Given the description of an element on the screen output the (x, y) to click on. 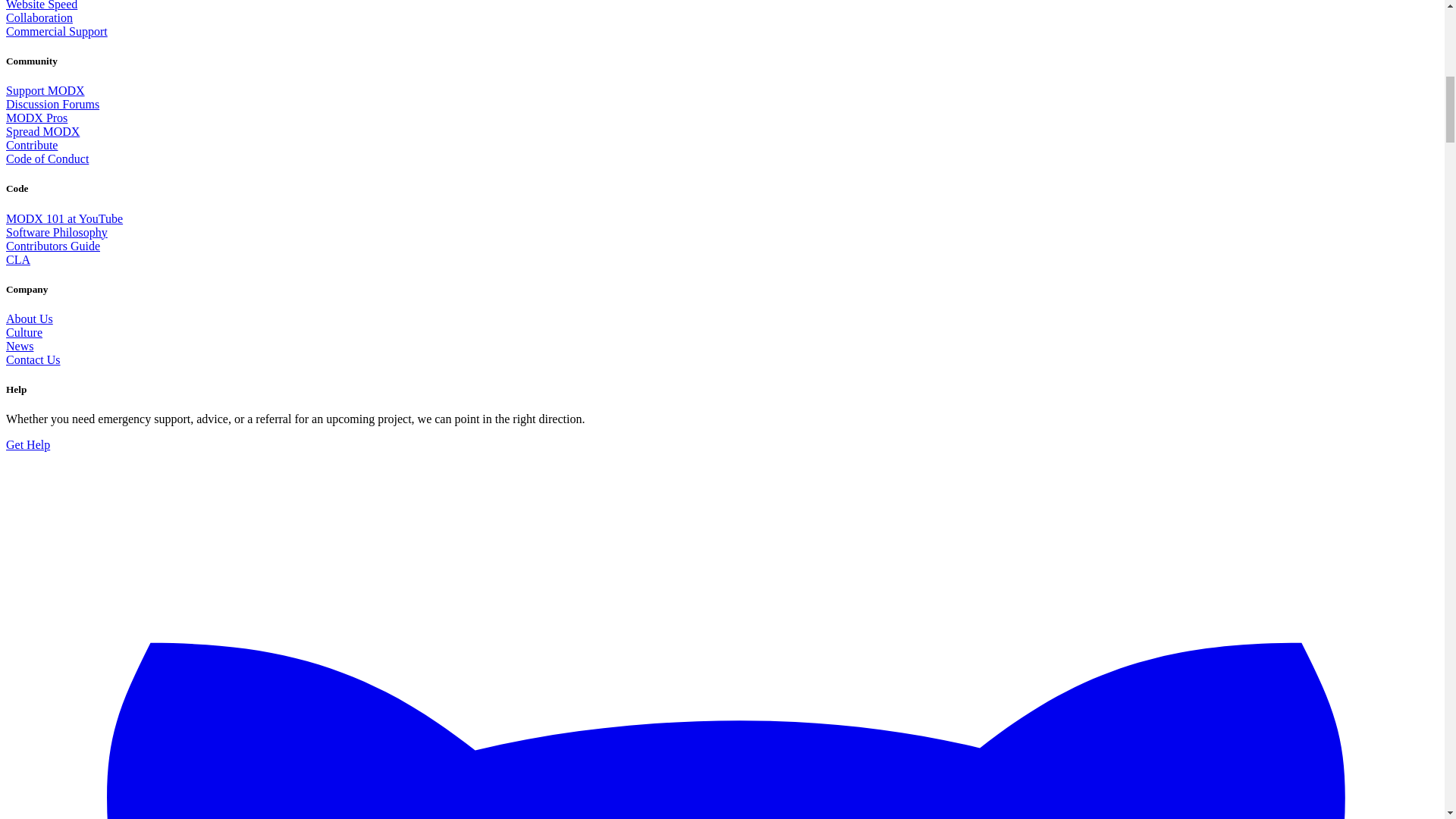
Commercial Support (56, 31)
MODX Pros (35, 117)
Culture (23, 332)
Spread MODX (42, 131)
Support MODX (44, 90)
Discussion Forums (52, 103)
About Us (28, 318)
Contribute (31, 144)
Get Help (27, 444)
Code of Conduct (46, 158)
Software Philosophy (56, 232)
News (19, 345)
MODX 101 at YouTube (63, 218)
CLA (17, 259)
Contact Us (33, 359)
